Given the description of an element on the screen output the (x, y) to click on. 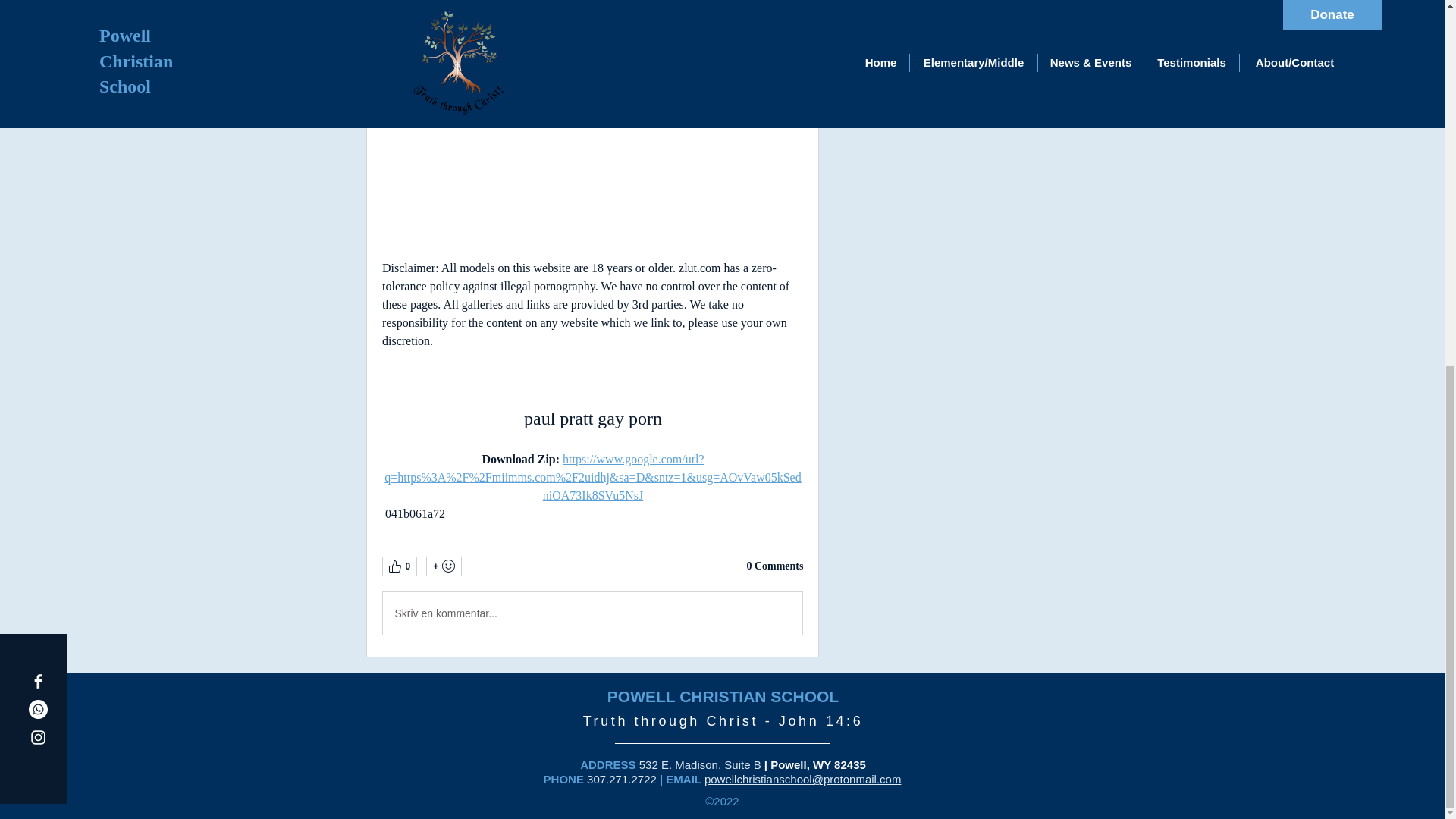
Skriv en kommentar... (591, 613)
0 Comments (774, 566)
Follow (1043, 17)
dinielligoyo (916, 15)
dinielligoyo (863, 17)
POWELL CHRISTIAN SCHOOL (722, 696)
